Given the description of an element on the screen output the (x, y) to click on. 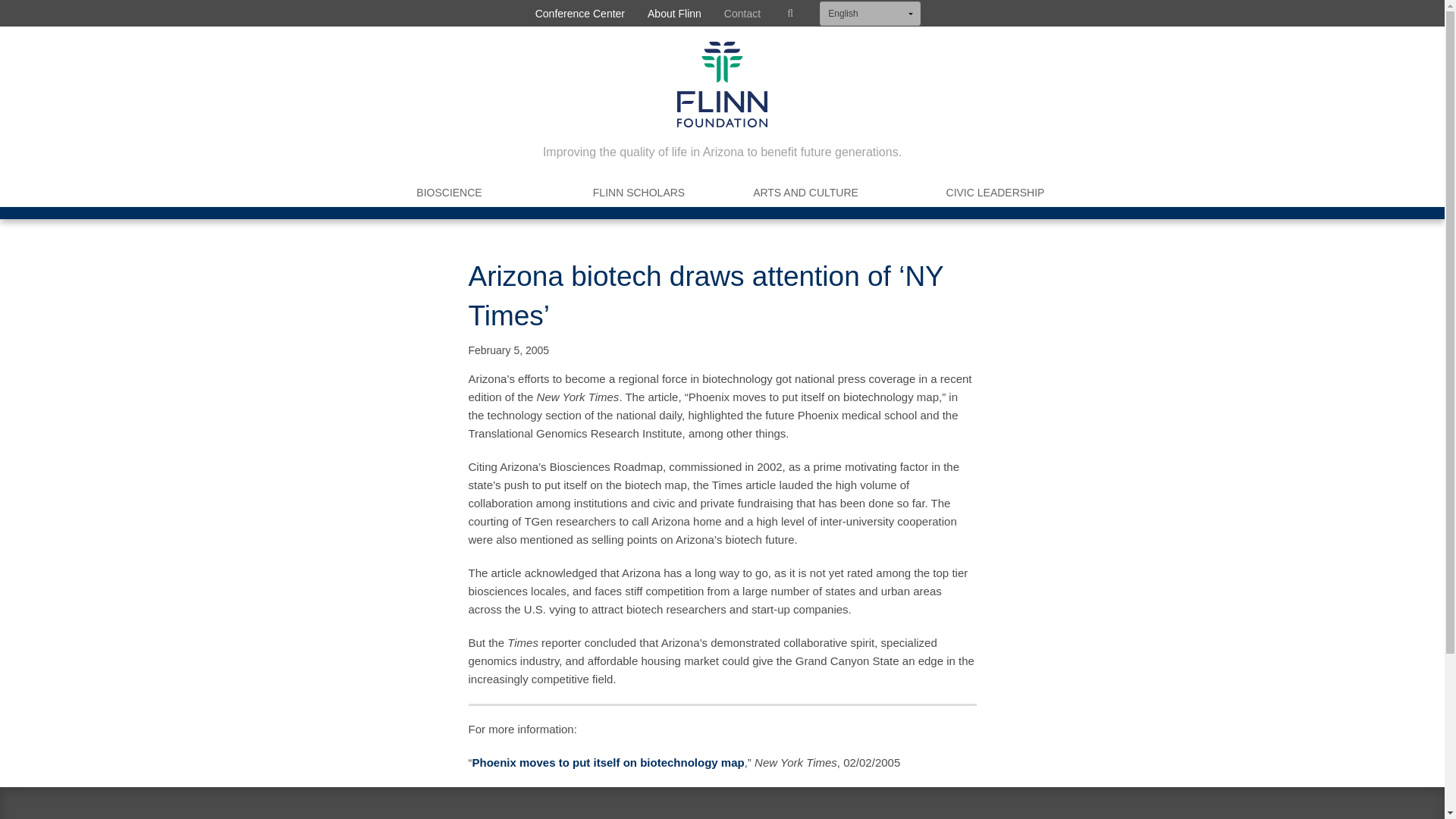
About Flinn (674, 13)
BIOSCIENCE (448, 192)
Opens in new tab (607, 762)
Conference Center (580, 13)
Contact (742, 13)
